Given the description of an element on the screen output the (x, y) to click on. 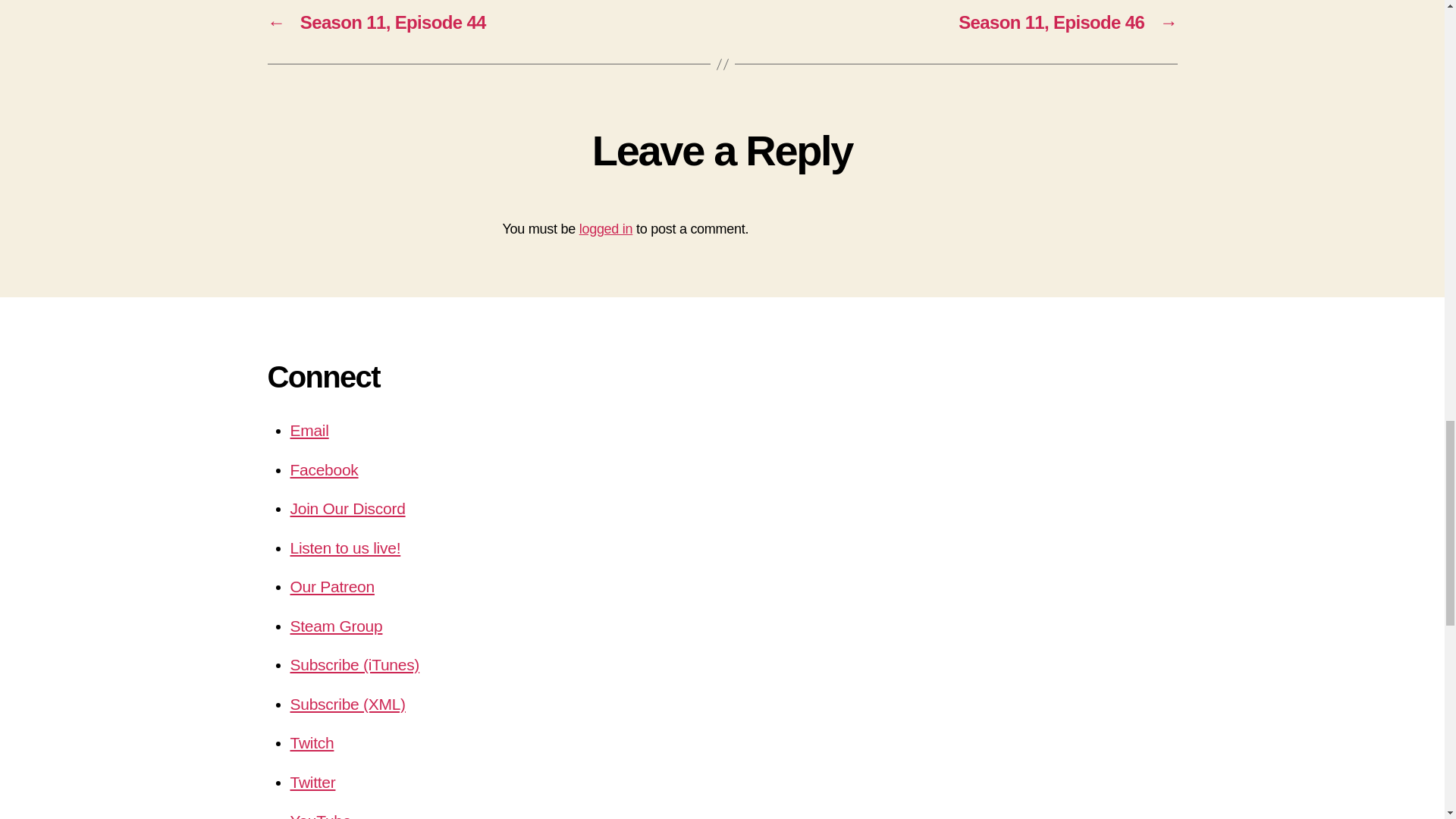
Send the hosts an email. (309, 429)
Contact IGC via Twitter. (311, 782)
YouTube (319, 815)
Click Here To Support Us (331, 586)
Connect with us on Facebook. (323, 469)
Twitter (311, 782)
Join Our Discord (346, 507)
Subscribe to the In-Game Chat podcast. (346, 703)
Facebook (323, 469)
Our YouTube Channel (319, 815)
